Given the description of an element on the screen output the (x, y) to click on. 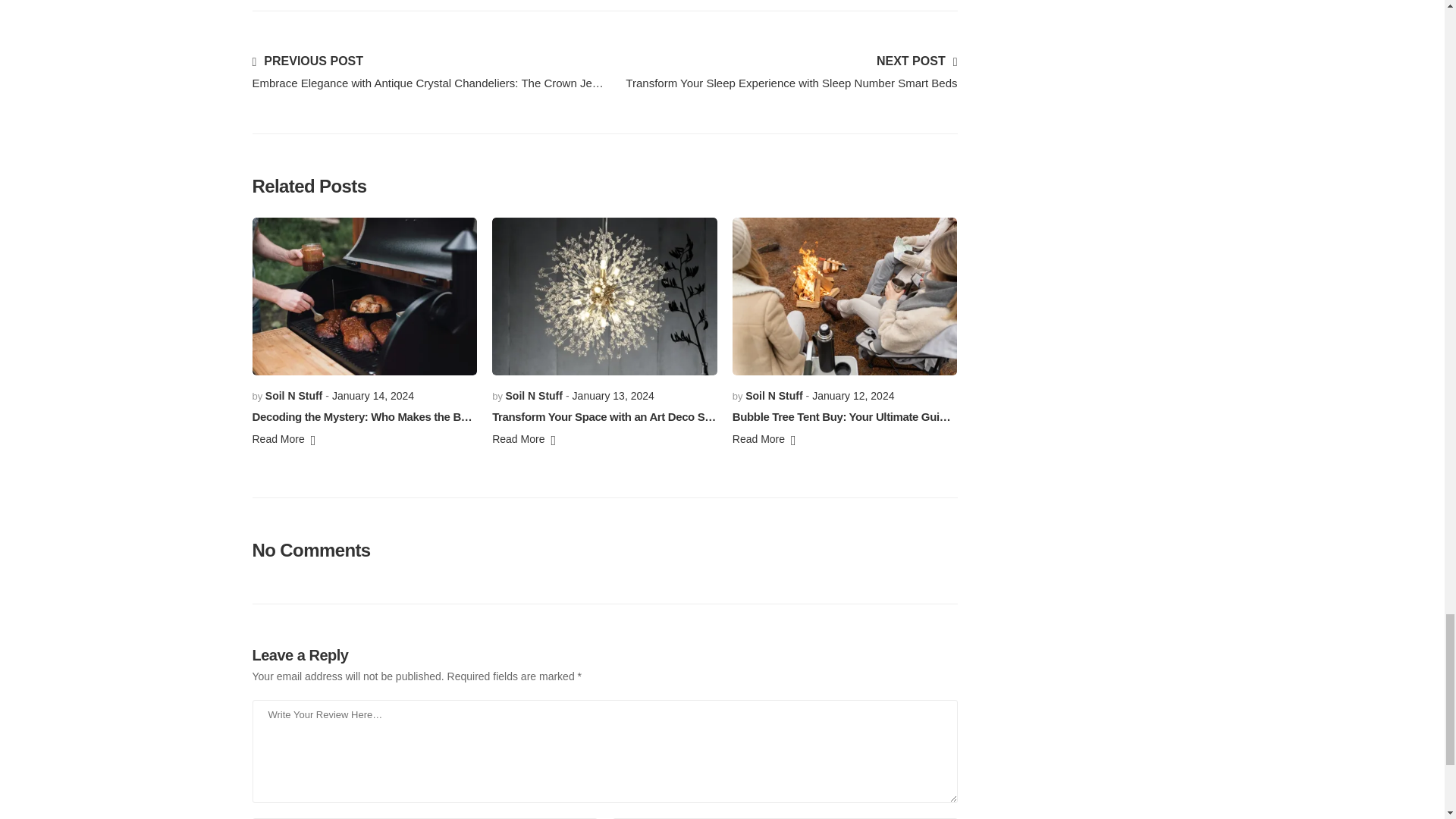
Posts by Soil N Stuff (292, 395)
Posts by Soil N Stuff (773, 395)
Read More (524, 441)
Read More (764, 441)
Read More (283, 441)
Posts by Soil N Stuff (533, 395)
